Given the description of an element on the screen output the (x, y) to click on. 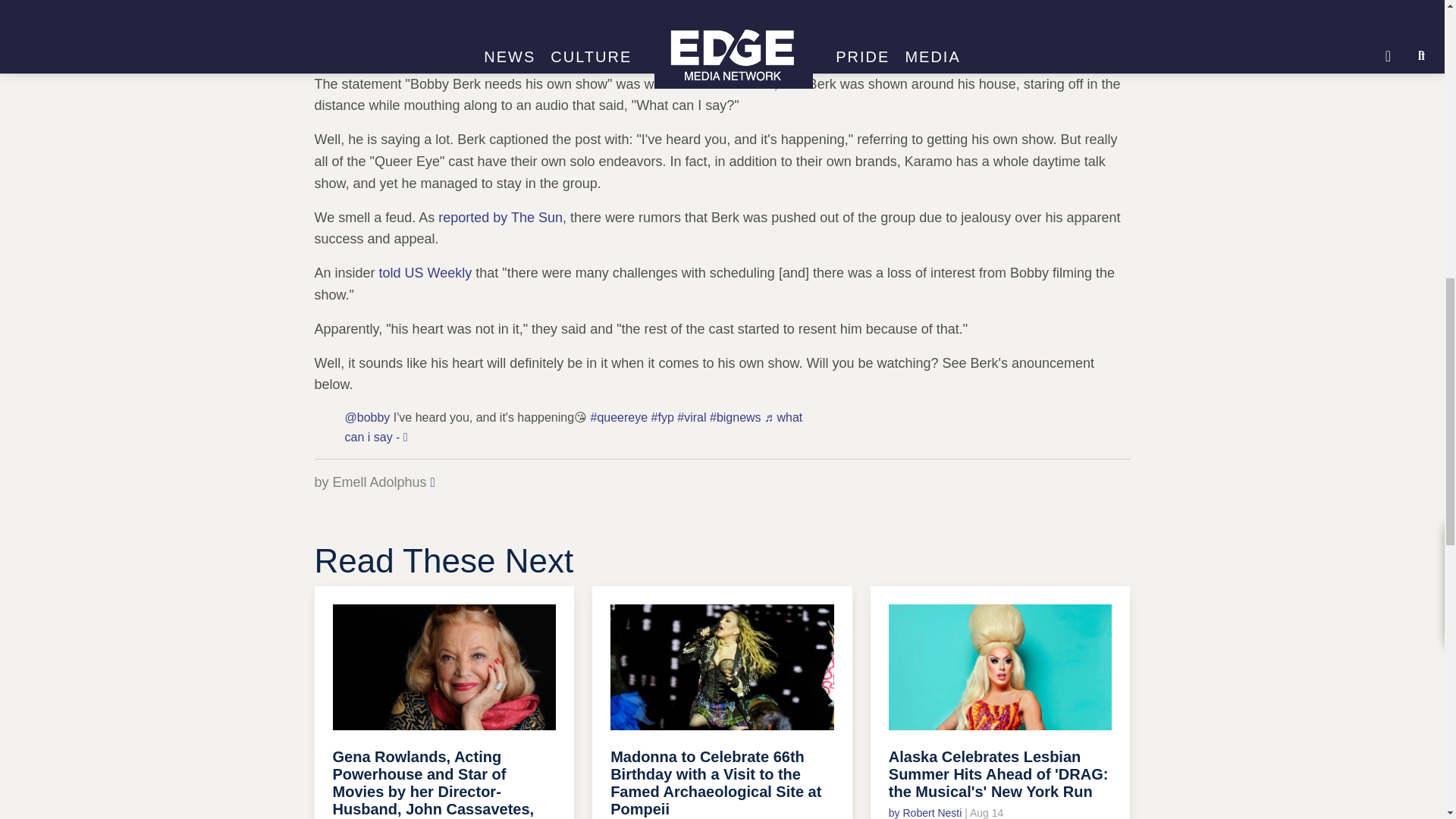
queereye (619, 417)
bignews (735, 417)
viral (691, 417)
fyp (662, 417)
